Given the description of an element on the screen output the (x, y) to click on. 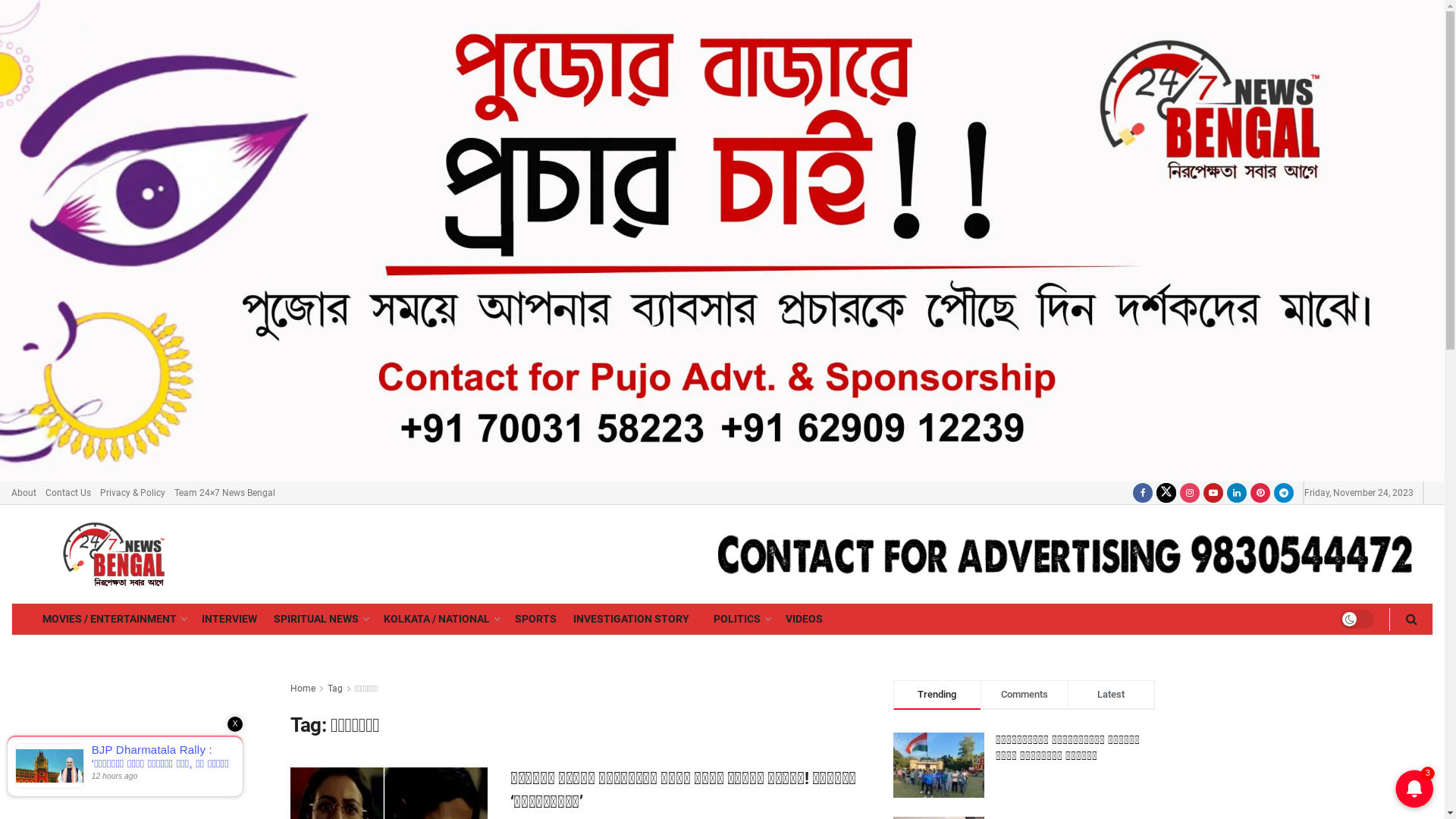
Privacy & Policy Element type: text (132, 492)
SPIRITUAL NEWS Element type: text (320, 618)
About Element type: text (23, 492)
INTERVIEW Element type: text (229, 618)
Tag Element type: text (334, 688)
KOLKATA / NATIONAL Element type: text (440, 618)
Home Element type: text (301, 688)
MOVIES / ENTERTAINMENT Element type: text (113, 618)
INVESTIGATION STORY Element type: text (631, 618)
Contact Us Element type: text (68, 492)
POLITICS Element type: text (737, 618)
SPORTS Element type: text (535, 618)
VIDEOS Element type: text (803, 618)
